Given the description of an element on the screen output the (x, y) to click on. 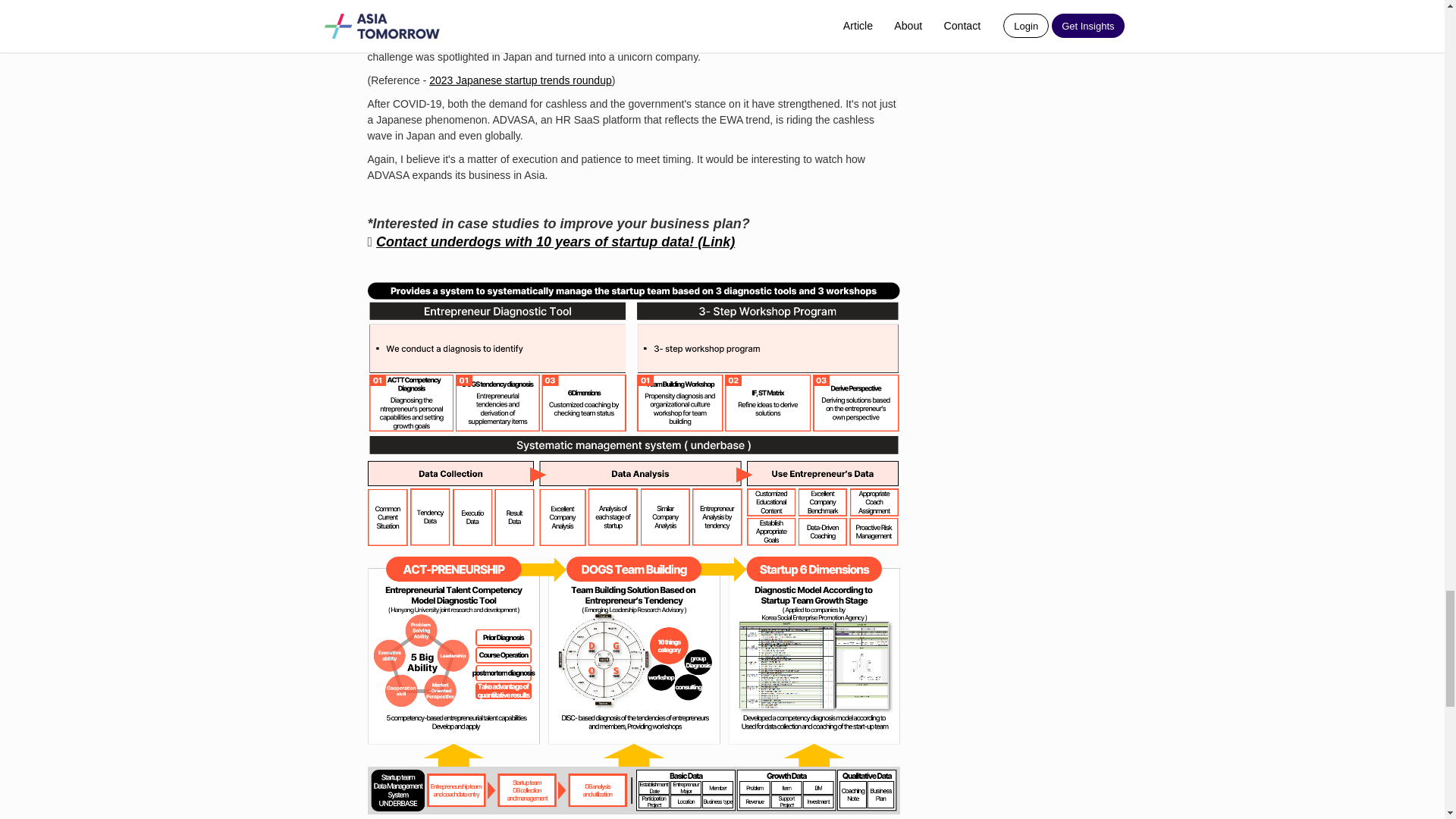
2023 Japanese startup trends roundup (520, 80)
